Given the description of an element on the screen output the (x, y) to click on. 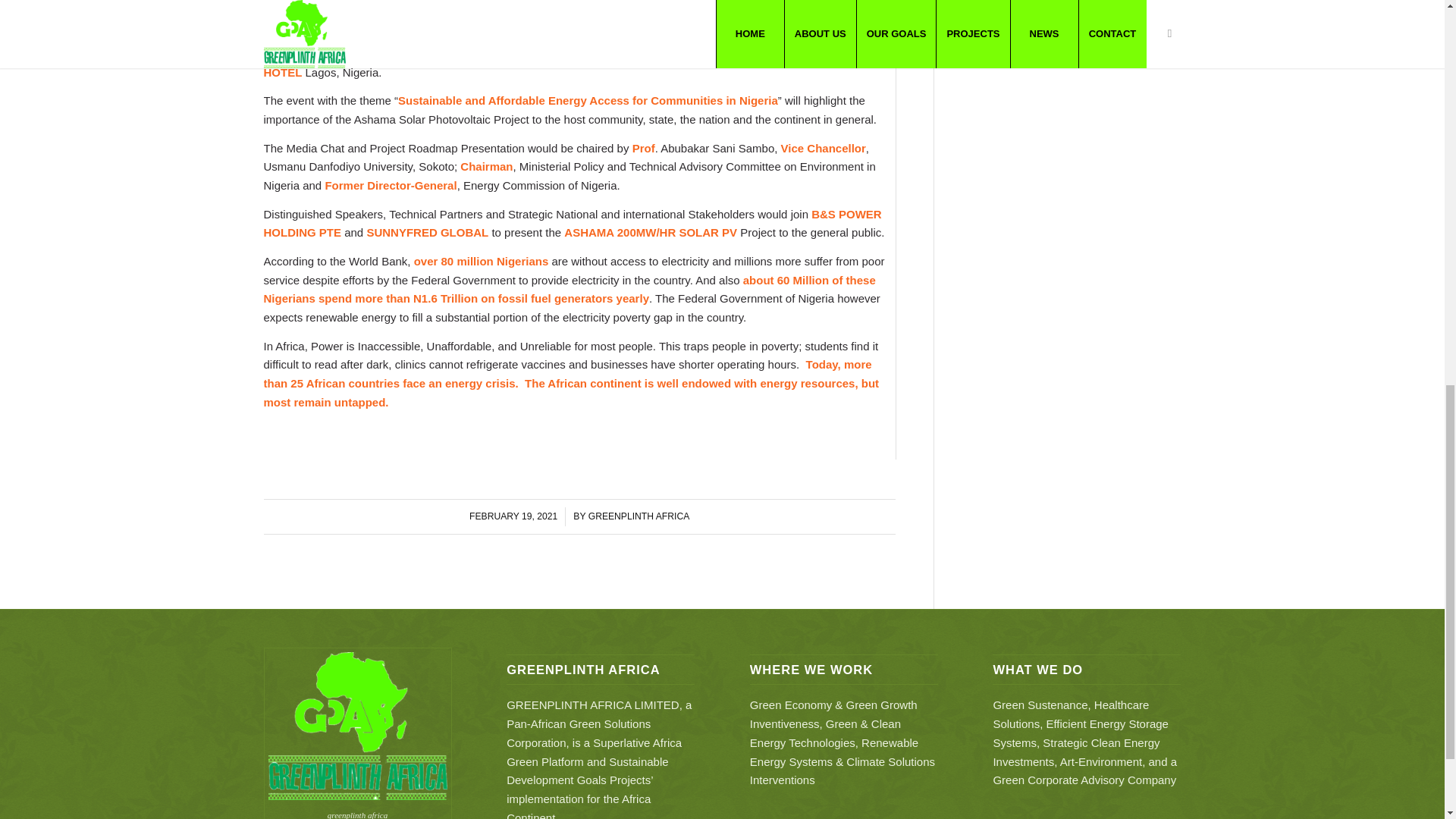
GREENPLINTH AFRICA (639, 516)
Posts by Greenplinth Africa (639, 516)
